Given the description of an element on the screen output the (x, y) to click on. 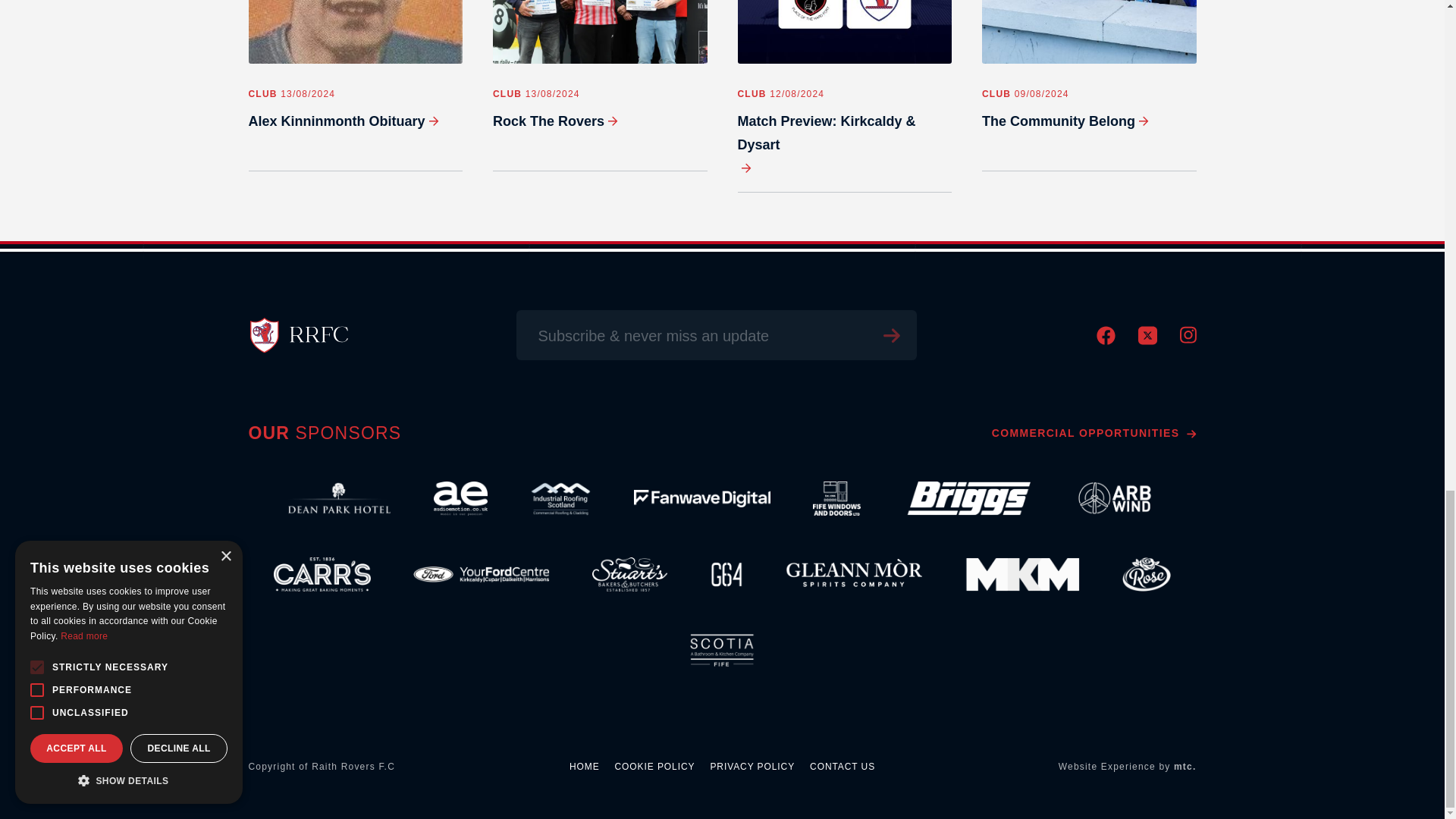
Find us on Instagram (1187, 339)
Industrial Roofing Scotland (560, 499)
Find us on X (1146, 340)
Commercial Opportunities (1093, 432)
Find us on Facebook (1105, 340)
Fanwave Digital (701, 499)
Carr's (322, 574)
Brigg's Marine (966, 499)
Dean Park Hotel (339, 499)
Your Ford Centre (481, 574)
